Given the description of an element on the screen output the (x, y) to click on. 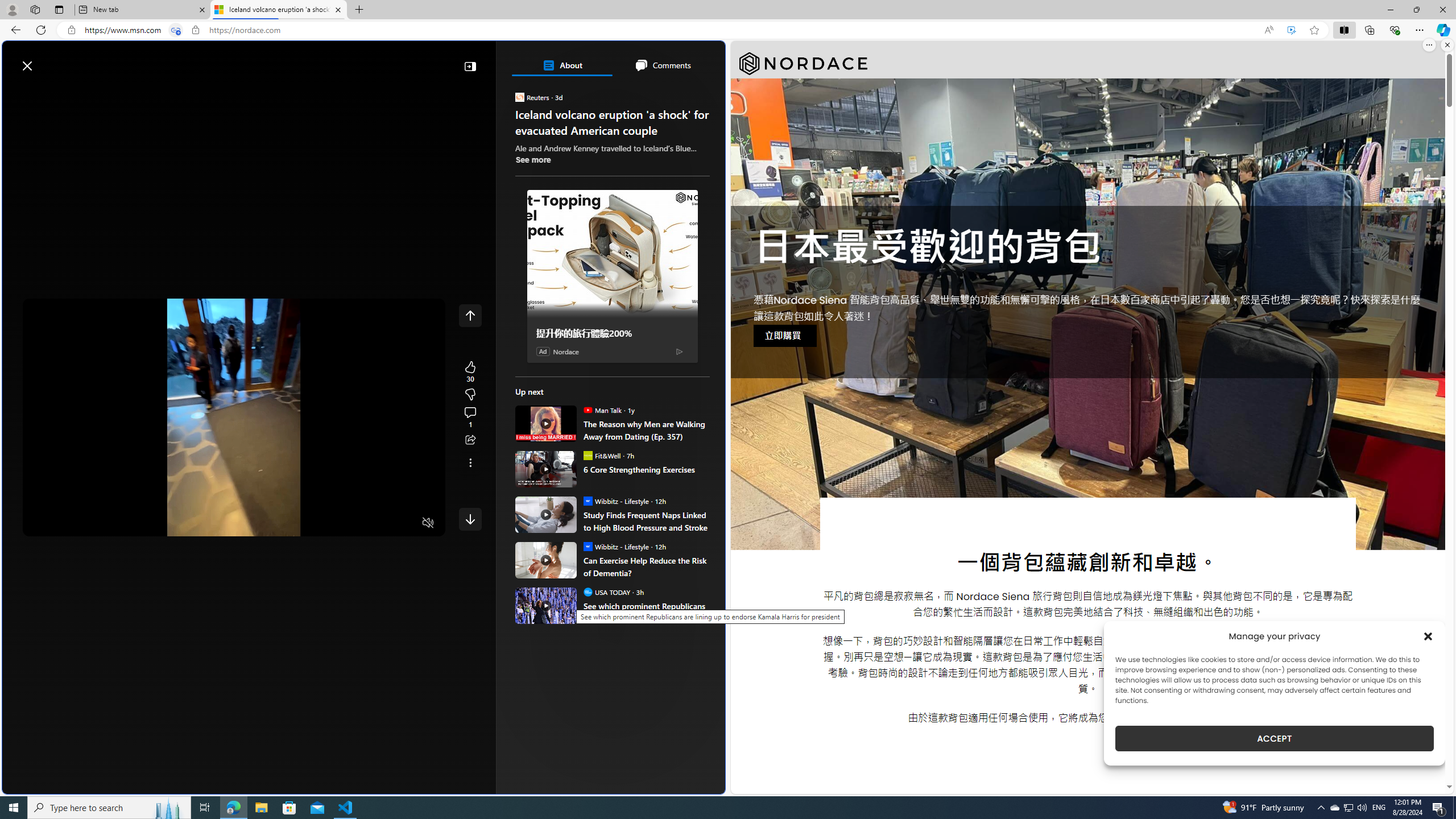
Open settings (699, 60)
Unmute (427, 523)
Class: control icon-only (469, 315)
USA TODAY (587, 591)
Man Talk (587, 409)
